Given the description of an element on the screen output the (x, y) to click on. 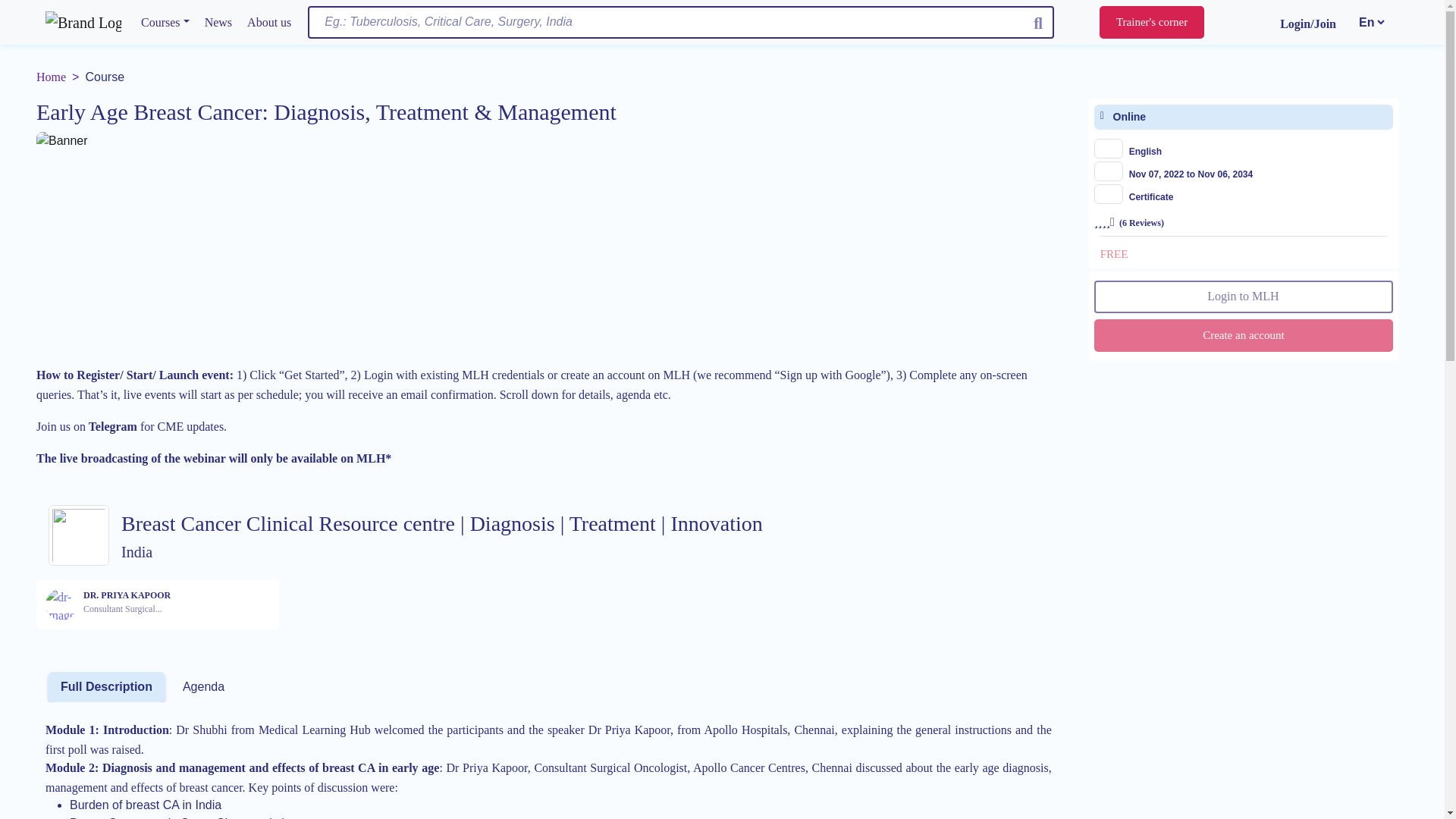
Courses (164, 22)
Trainer's corner (126, 604)
Home (1151, 21)
About us (50, 76)
Telegram (269, 22)
Full Description (112, 426)
News (106, 686)
